Given the description of an element on the screen output the (x, y) to click on. 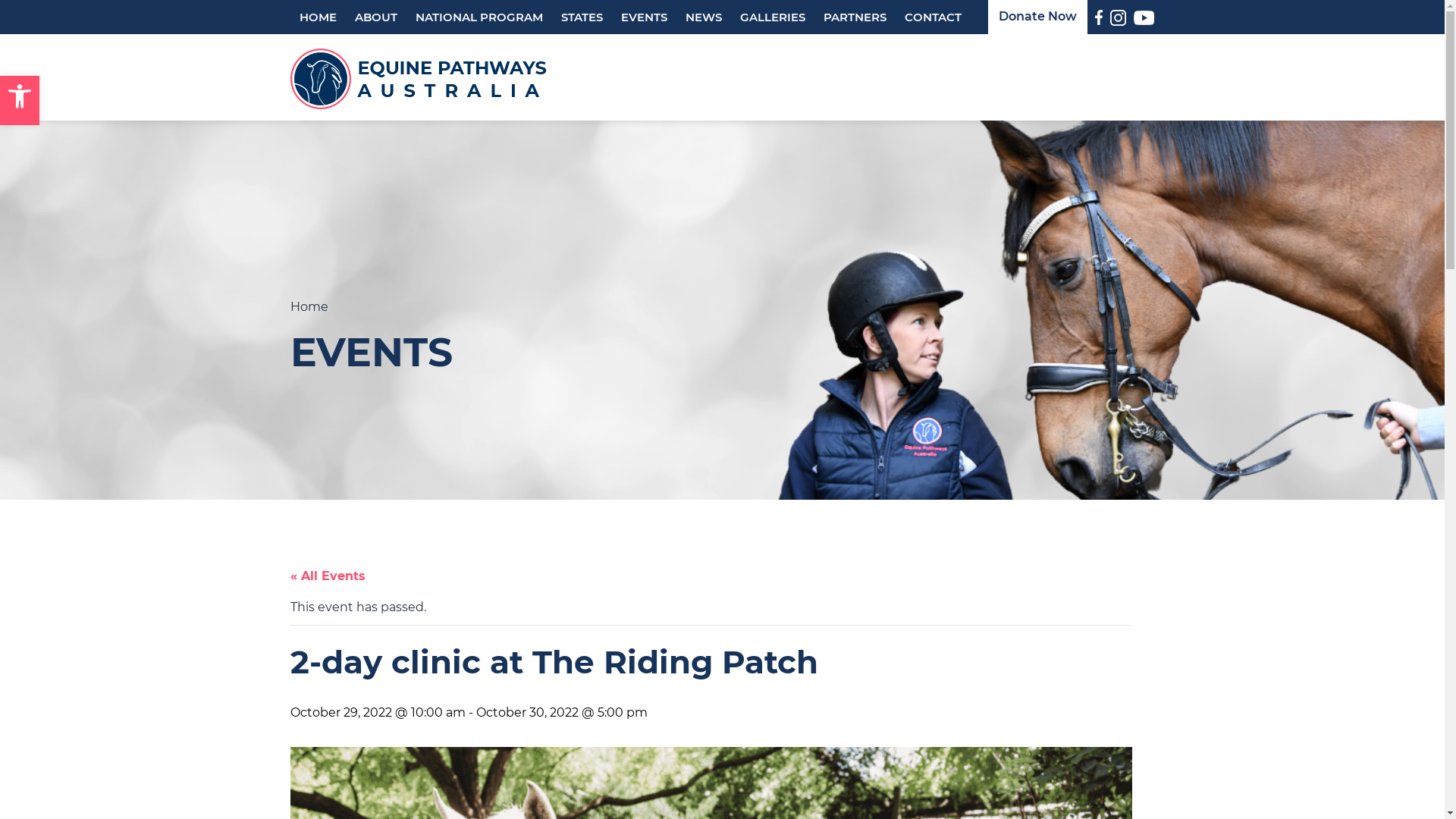
NEWS Element type: text (703, 17)
CONTACT Element type: text (931, 17)
PARTNERS Element type: text (854, 17)
STATES Element type: text (581, 17)
EVENTS Element type: text (643, 17)
Open toolbar
Accessibility Tools Element type: text (19, 100)
HOME Element type: text (317, 17)
ABOUT Element type: text (375, 17)
GALLERIES Element type: text (772, 17)
NATIONAL PROGRAM Element type: text (479, 17)
